Given the description of an element on the screen output the (x, y) to click on. 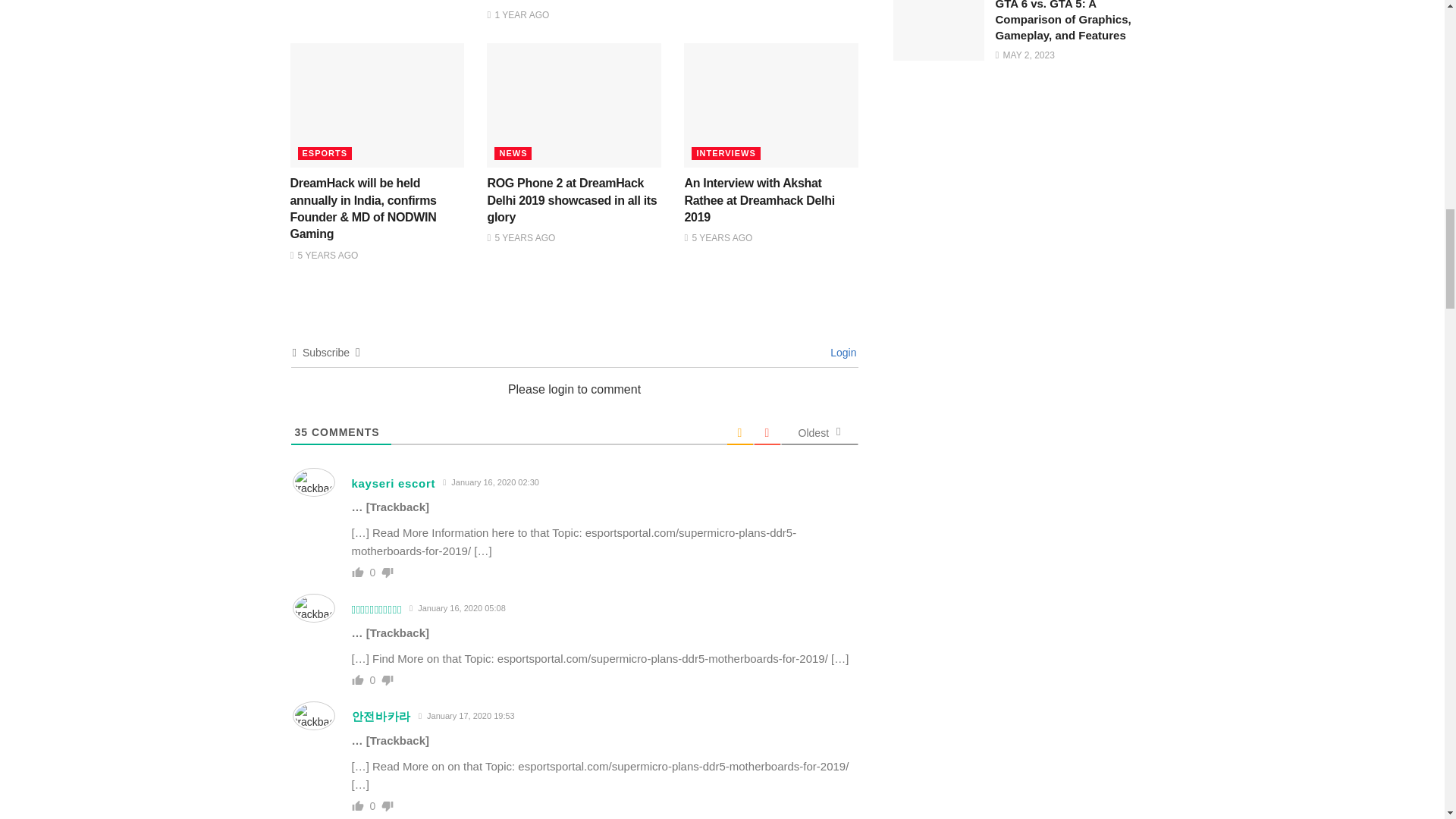
0 (372, 806)
0 (372, 680)
35 (300, 431)
January 16, 2020 05:08 (457, 608)
January 17, 2020 19:53 (466, 716)
January 16, 2020 02:30 (491, 482)
0 (372, 572)
